Given the description of an element on the screen output the (x, y) to click on. 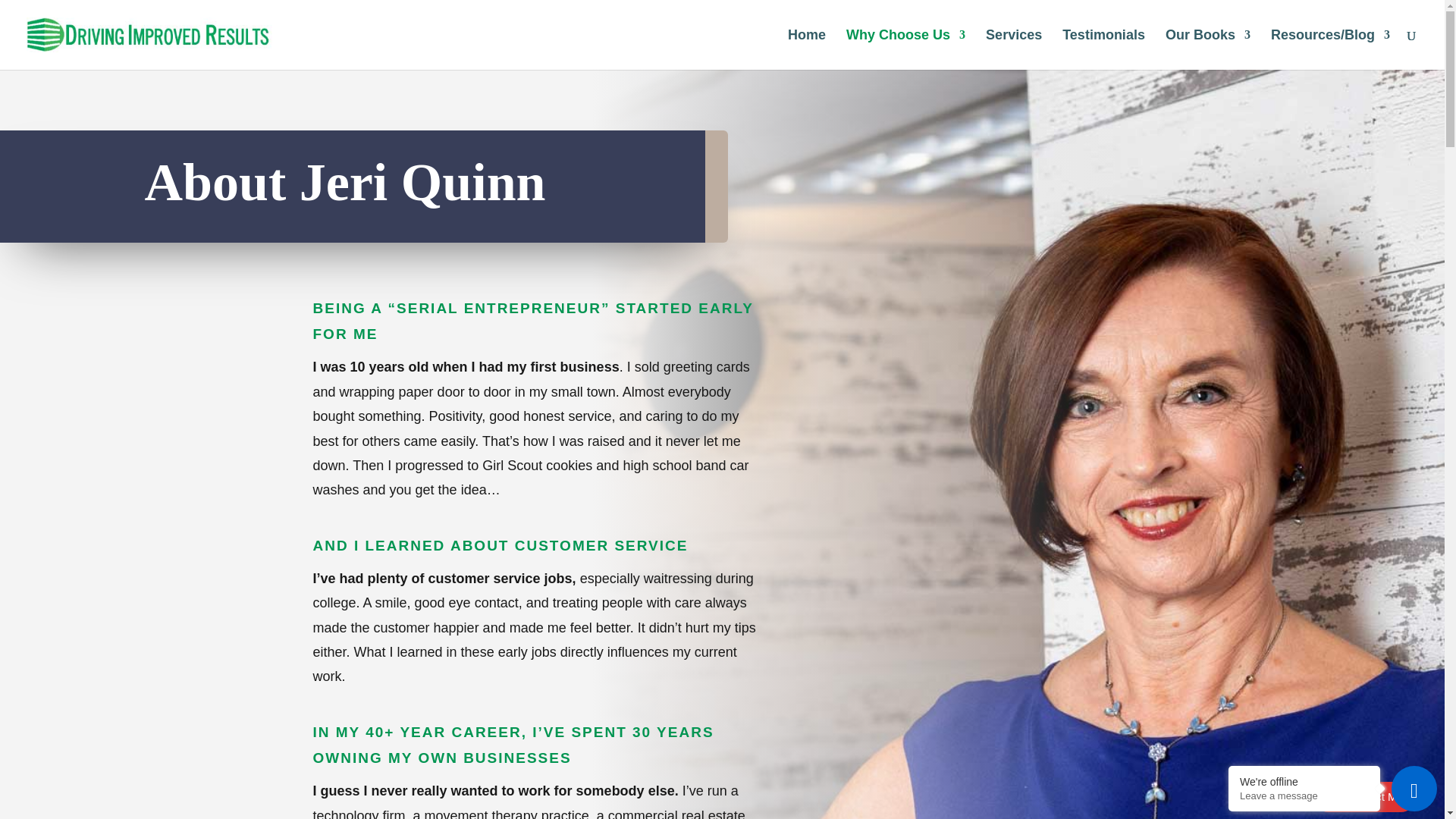
Why Choose Us (905, 49)
Our Books (1208, 49)
Home (806, 49)
Testimonials (1103, 49)
Services (1013, 49)
We're offline (1304, 781)
Contact Me (1364, 797)
Leave a message (1304, 795)
